Given the description of an element on the screen output the (x, y) to click on. 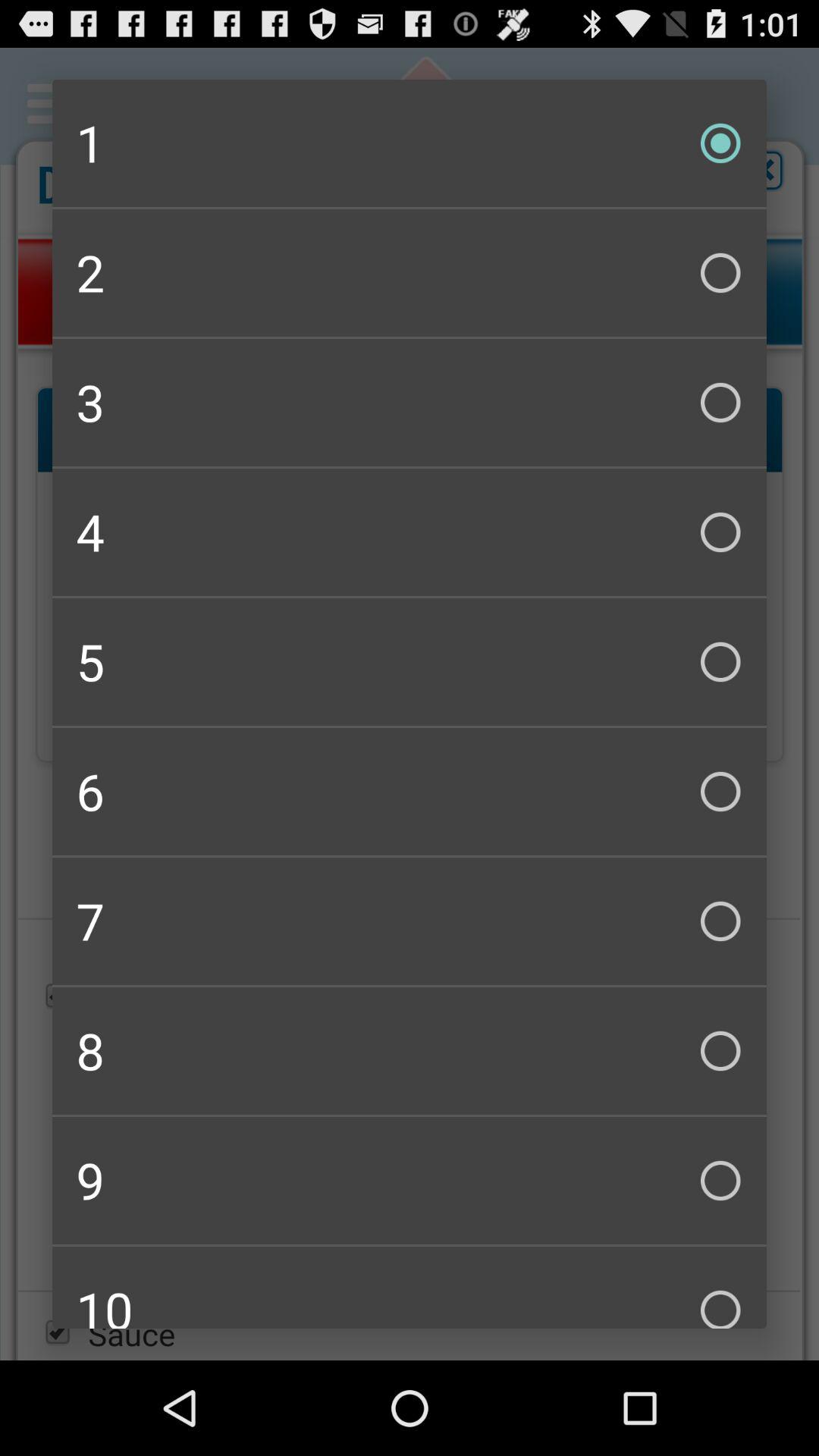
launch the 3 (409, 402)
